Given the description of an element on the screen output the (x, y) to click on. 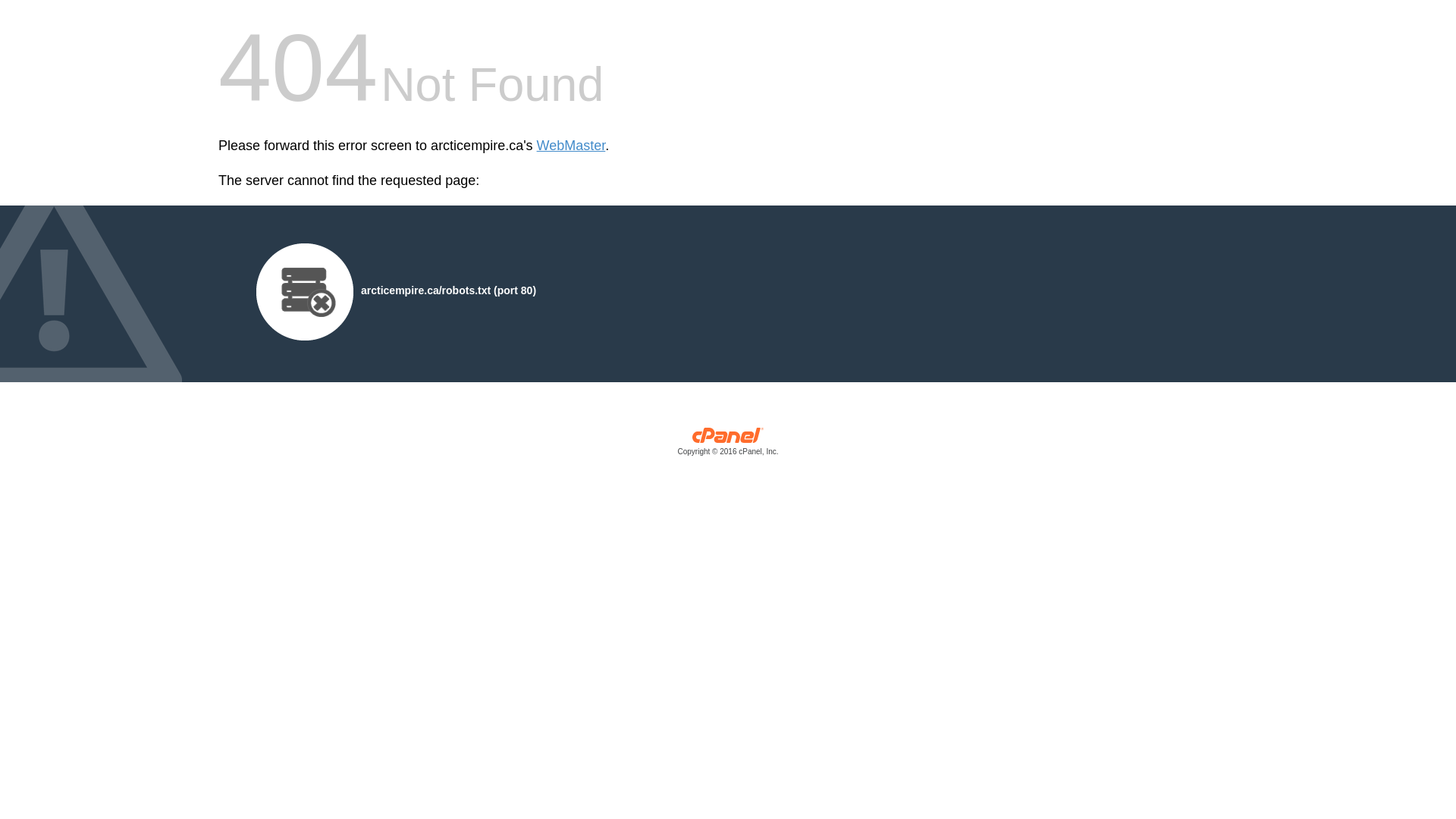
WebMaster Element type: text (570, 145)
